Given the description of an element on the screen output the (x, y) to click on. 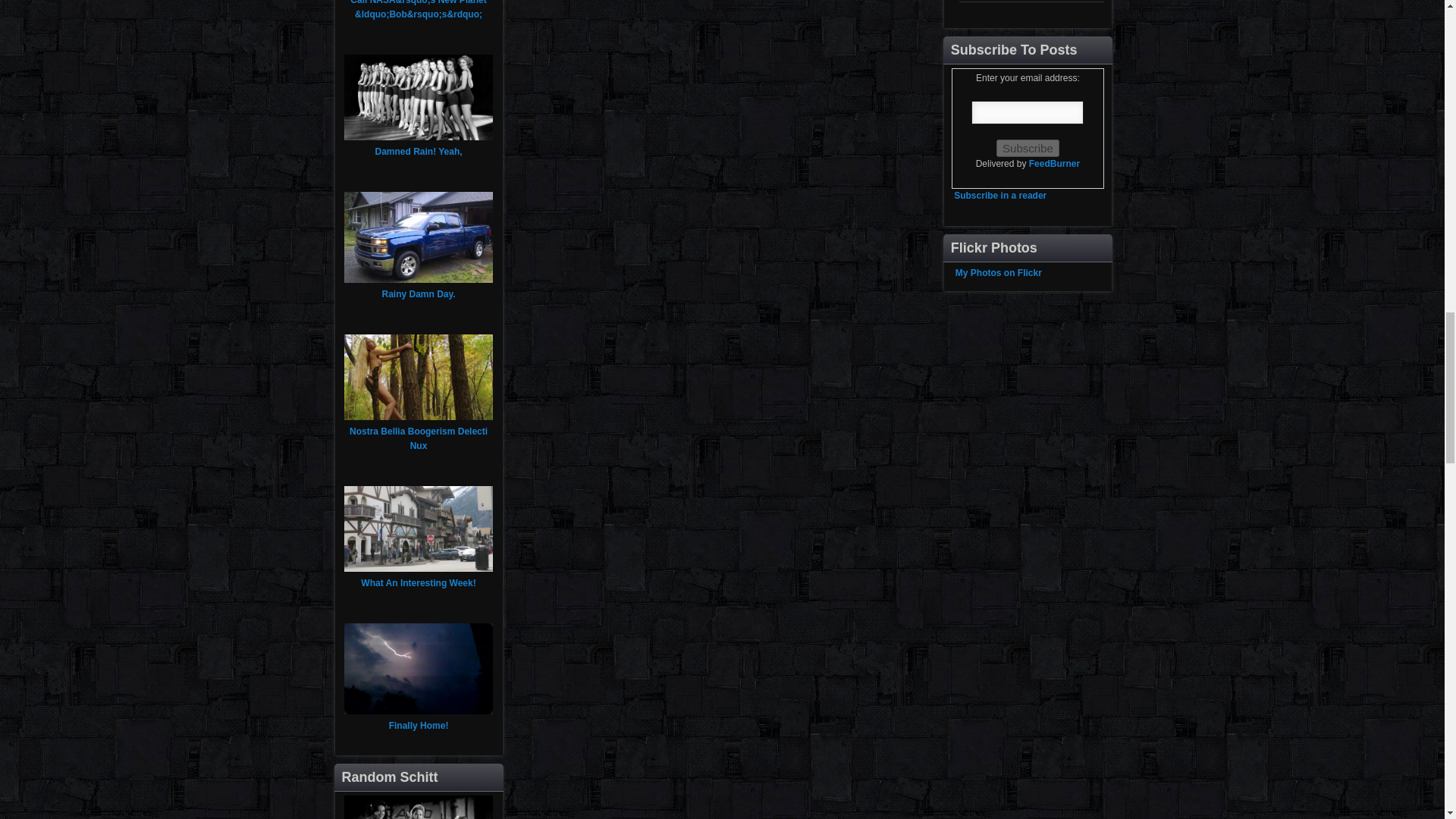
Subscribe (1027, 148)
